Given the description of an element on the screen output the (x, y) to click on. 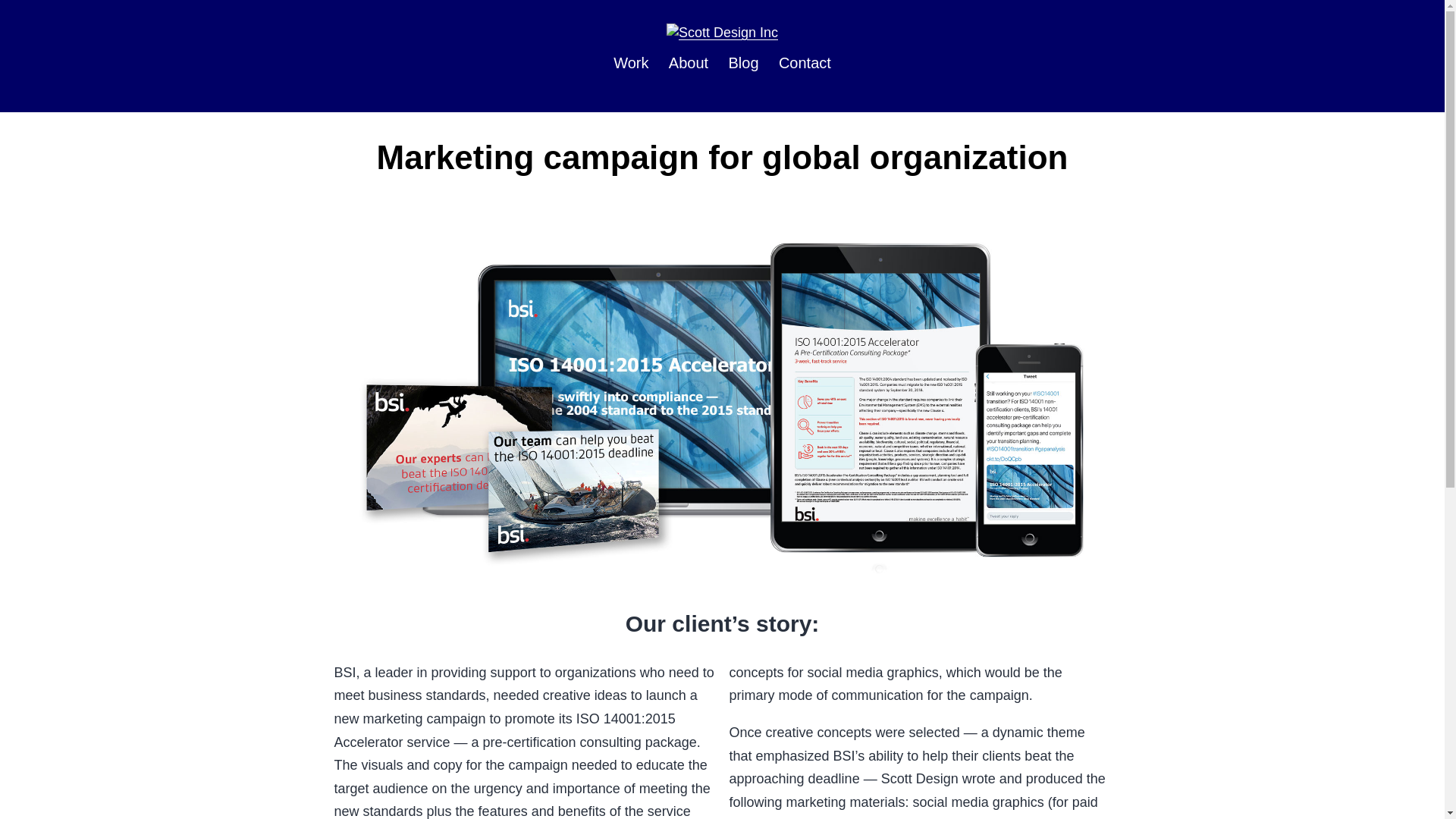
Contact (804, 60)
Work (631, 60)
Blog (742, 60)
About (689, 60)
